Given the description of an element on the screen output the (x, y) to click on. 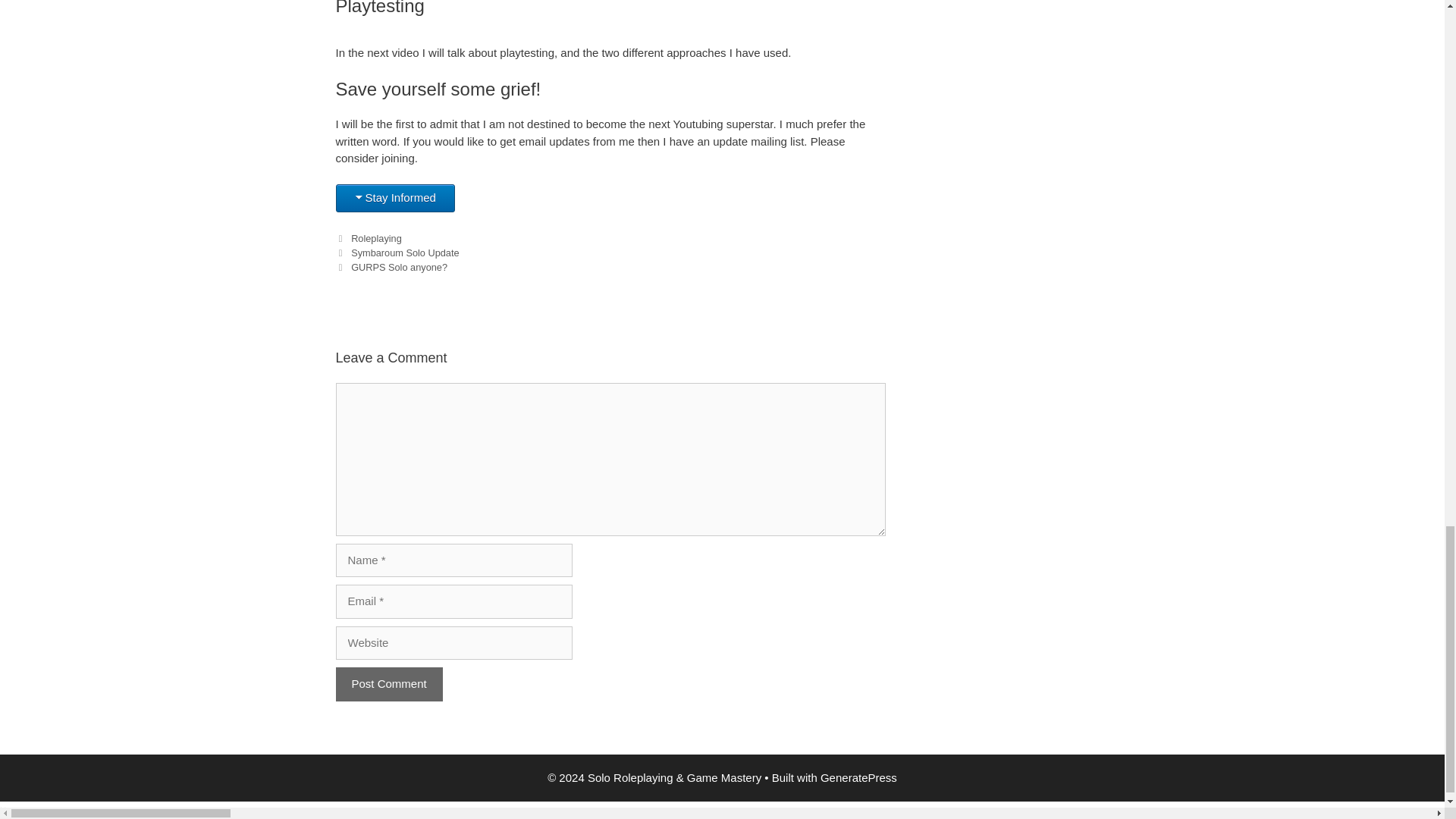
GURPS Solo anyone? (398, 266)
Post Comment (388, 684)
Symbaroum Solo Update (404, 252)
Roleplaying (375, 238)
GeneratePress (858, 777)
Stay Informed (394, 198)
Post Comment (388, 684)
